Given the description of an element on the screen output the (x, y) to click on. 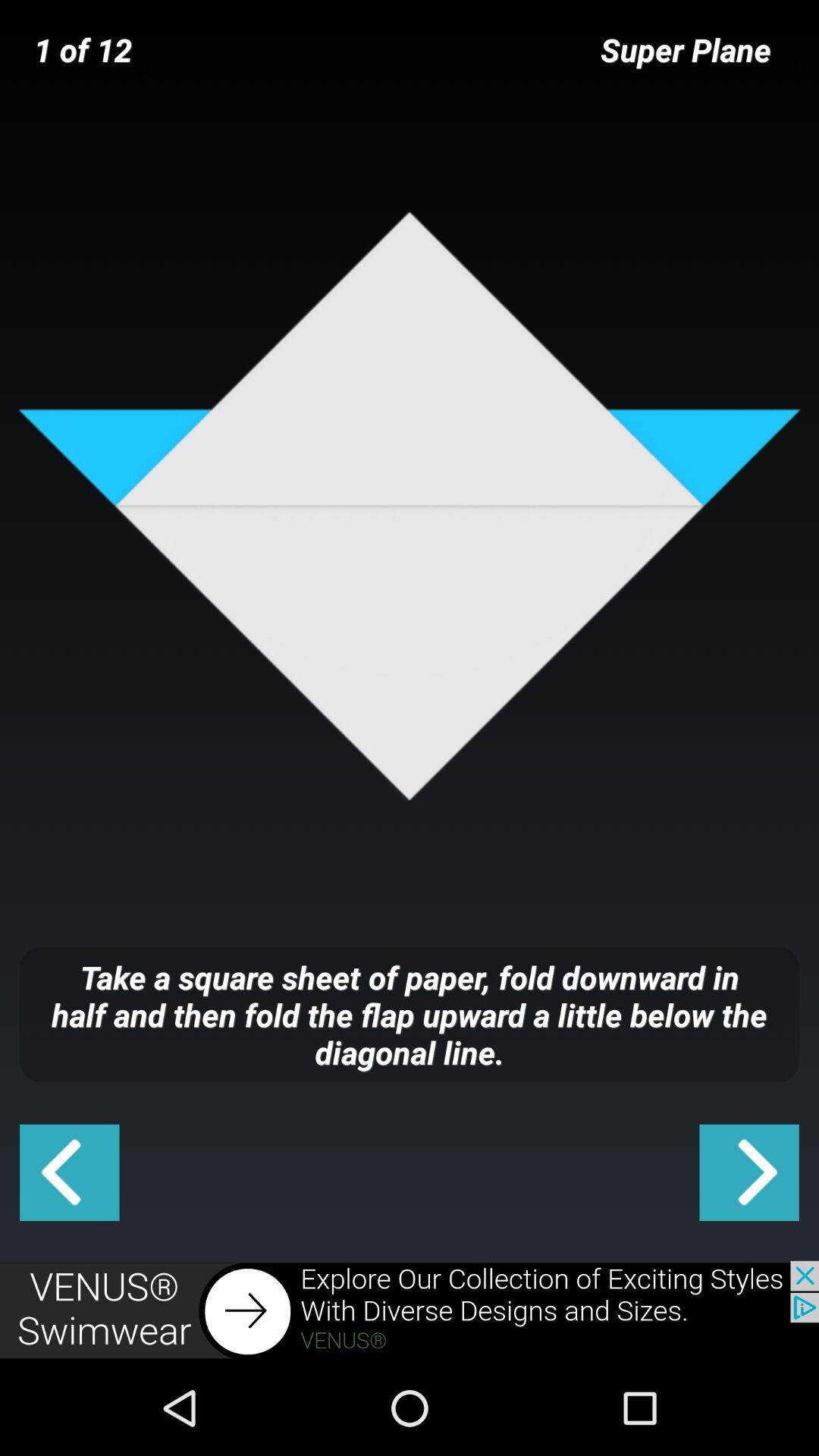
go to previous (69, 1172)
